Given the description of an element on the screen output the (x, y) to click on. 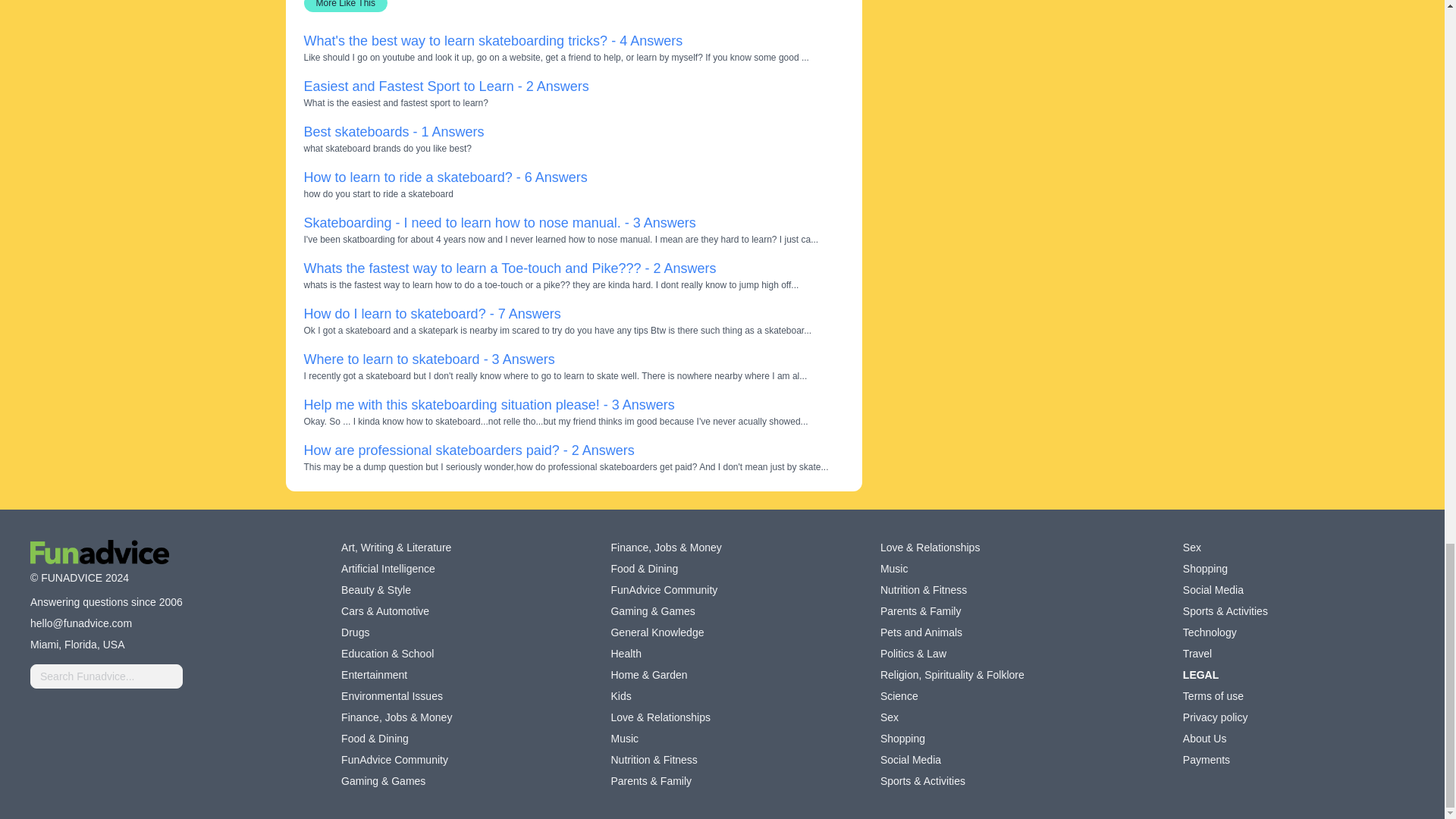
Best skateboards - 1 Answers (392, 131)
How do I learn to skateboard? - 7 Answers (431, 313)
Environmental Issues (391, 695)
Easiest and Fastest Sport to Learn - 2 Answers (445, 86)
Where to learn to skateboard - 3 Answers (428, 359)
Drugs (354, 631)
Artificial Intelligence (387, 568)
How are professional skateboarders paid? - 2 Answers (467, 450)
How to learn to ride a skateboard? - 6 Answers (444, 177)
Entertainment (373, 674)
